Given the description of an element on the screen output the (x, y) to click on. 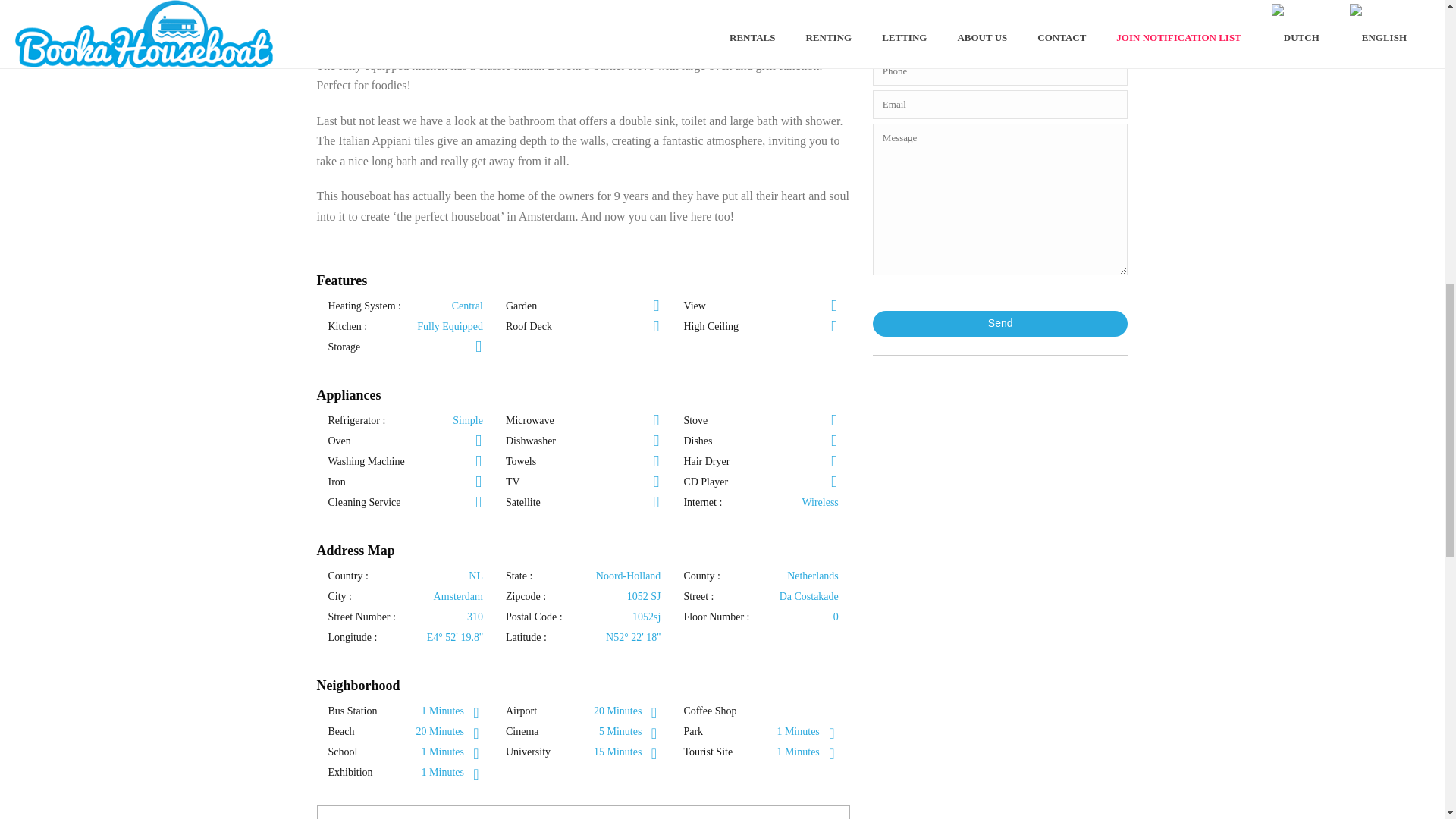
Send (1000, 323)
Send (1000, 323)
